Given the description of an element on the screen output the (x, y) to click on. 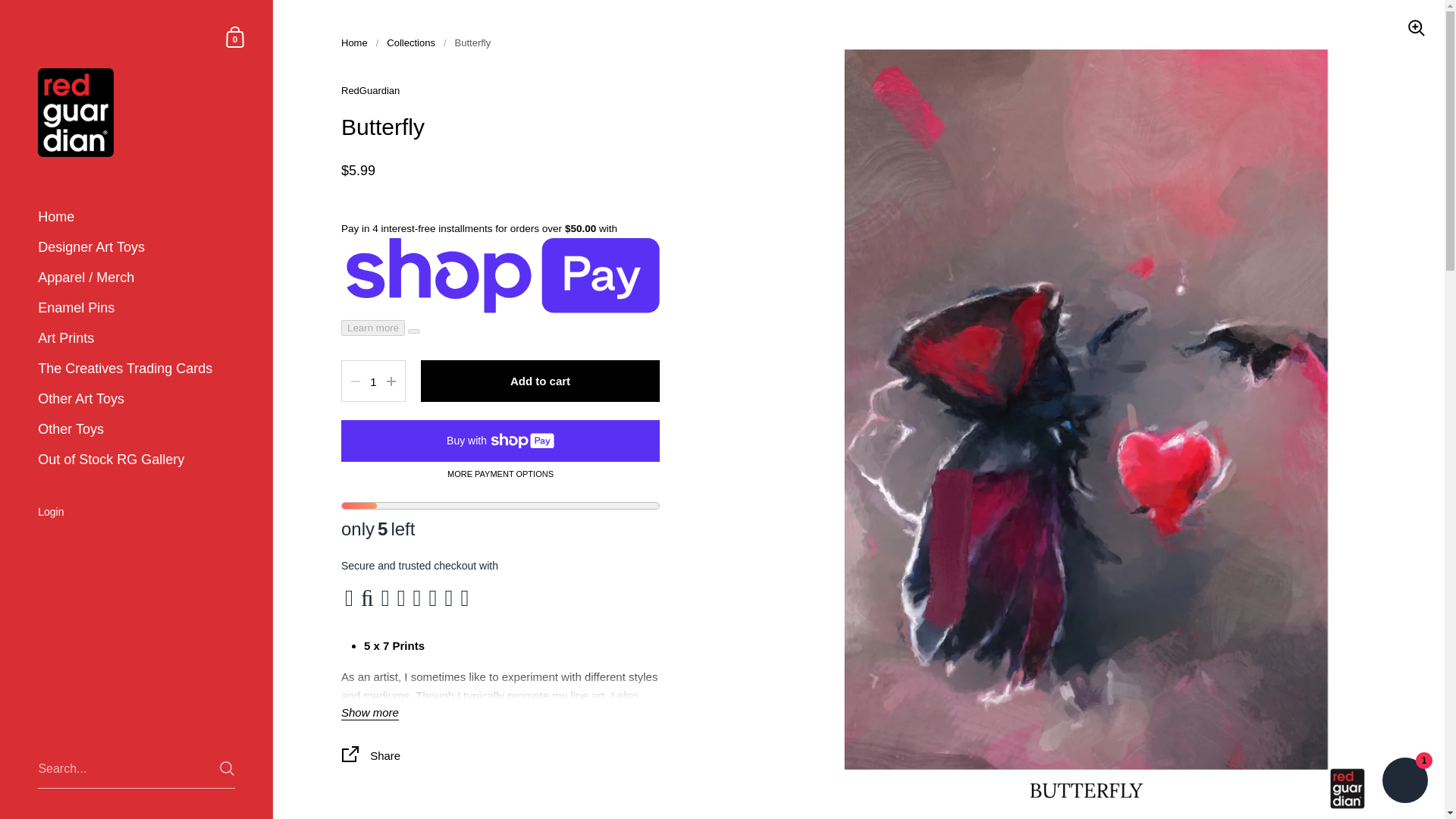
Shopify online store chat (1404, 781)
1 (373, 381)
RedGuardian (369, 90)
Other Toys (136, 429)
MORE PAYMENT OPTIONS (499, 474)
Art Prints (136, 338)
Login (136, 513)
Out of Stock RG Gallery (136, 460)
The Creatives Trading Cards (136, 368)
Enamel Pins (136, 308)
Share (499, 757)
Home (136, 217)
Home (354, 42)
